Given the description of an element on the screen output the (x, y) to click on. 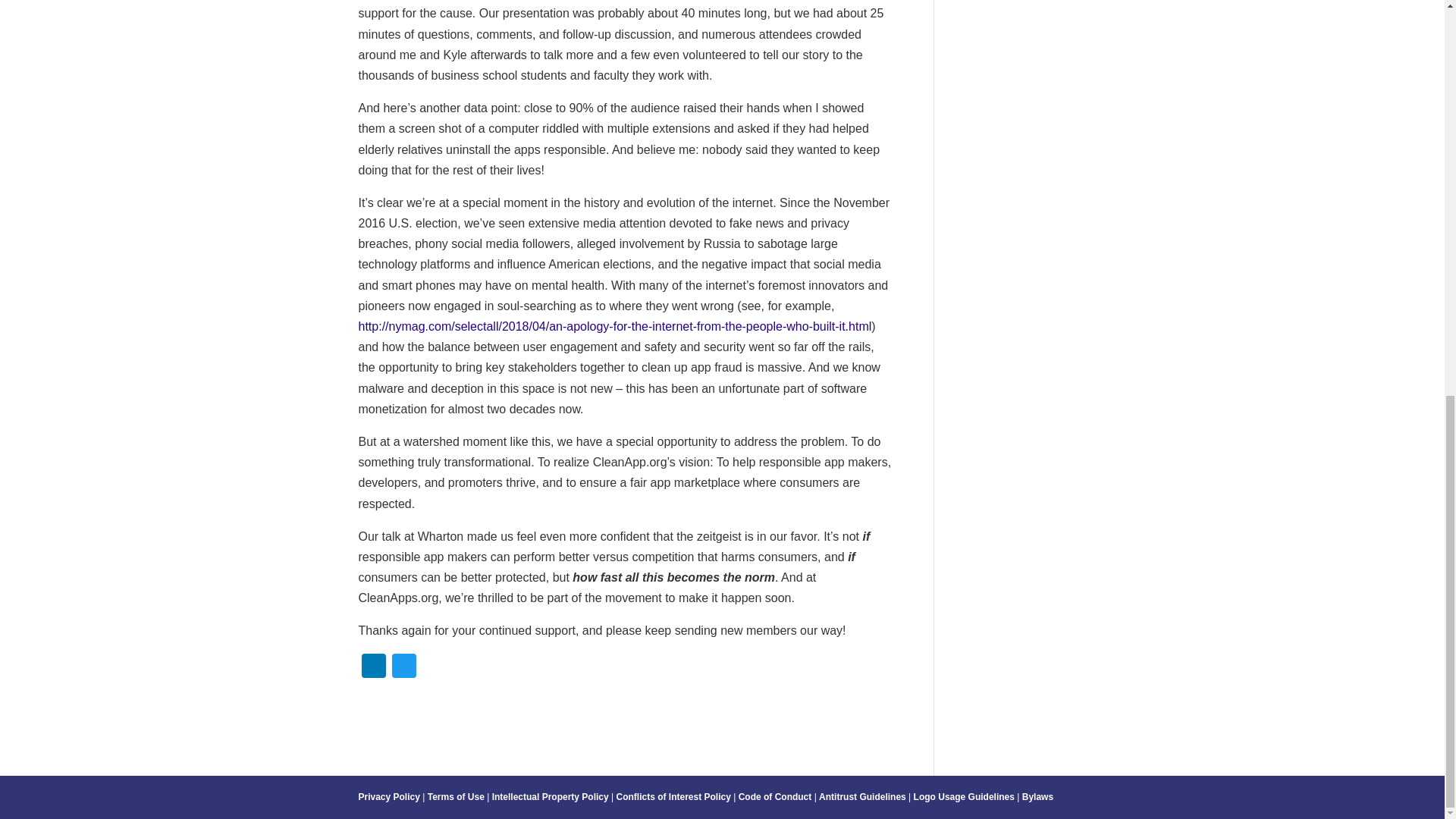
LinkedIn (373, 667)
Twitter (403, 667)
